Given the description of an element on the screen output the (x, y) to click on. 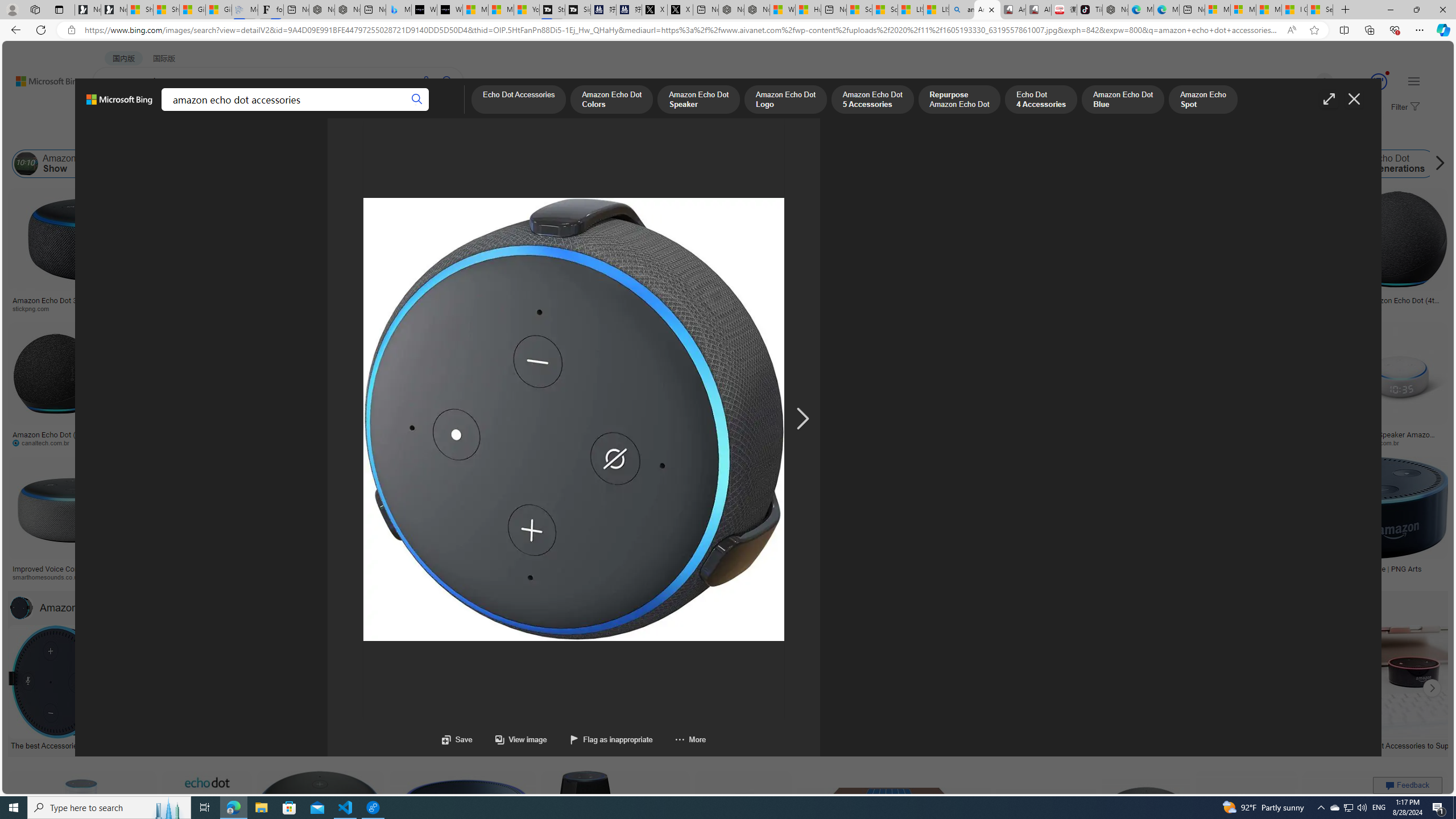
Smart Speaker Alexa (565, 296)
